Given the description of an element on the screen output the (x, y) to click on. 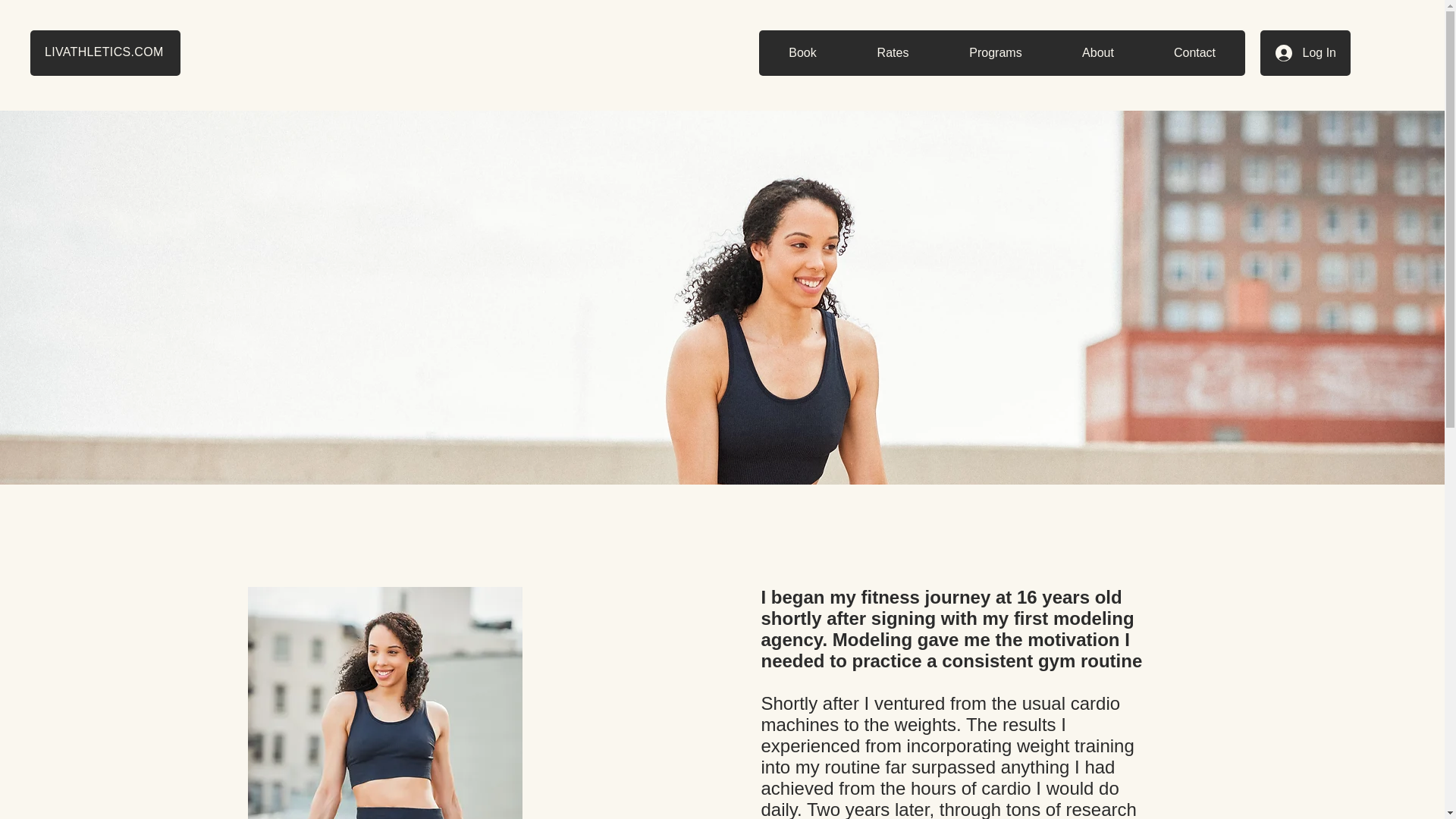
Book (801, 53)
Rates (892, 53)
Programs (995, 53)
About (1096, 53)
Log In (1305, 53)
LIVATHLETICS.COM (104, 51)
Contact (1193, 53)
